Given the description of an element on the screen output the (x, y) to click on. 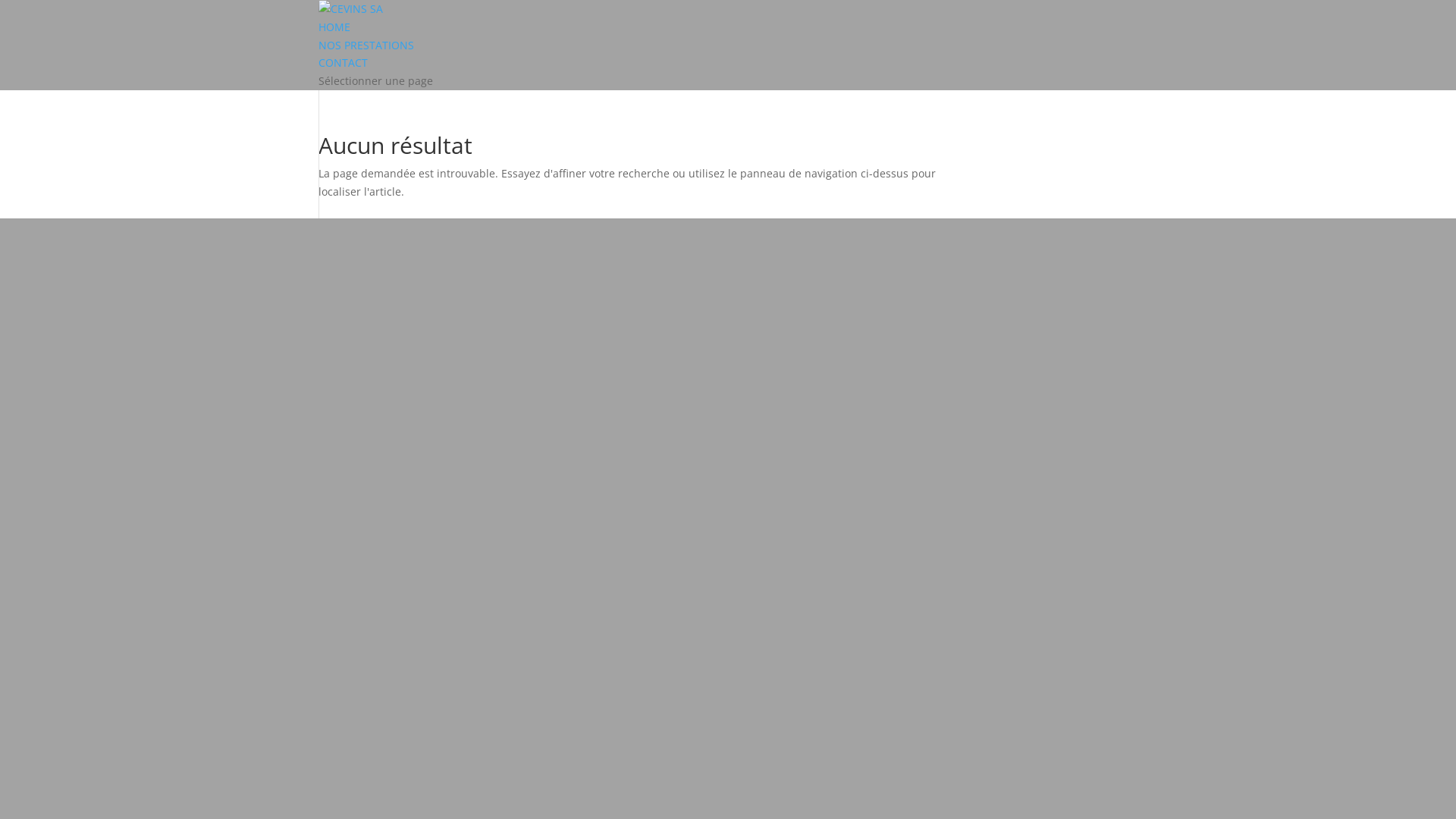
HOME Element type: text (334, 26)
NOS PRESTATIONS Element type: text (366, 44)
CONTACT Element type: text (342, 62)
